Given the description of an element on the screen output the (x, y) to click on. 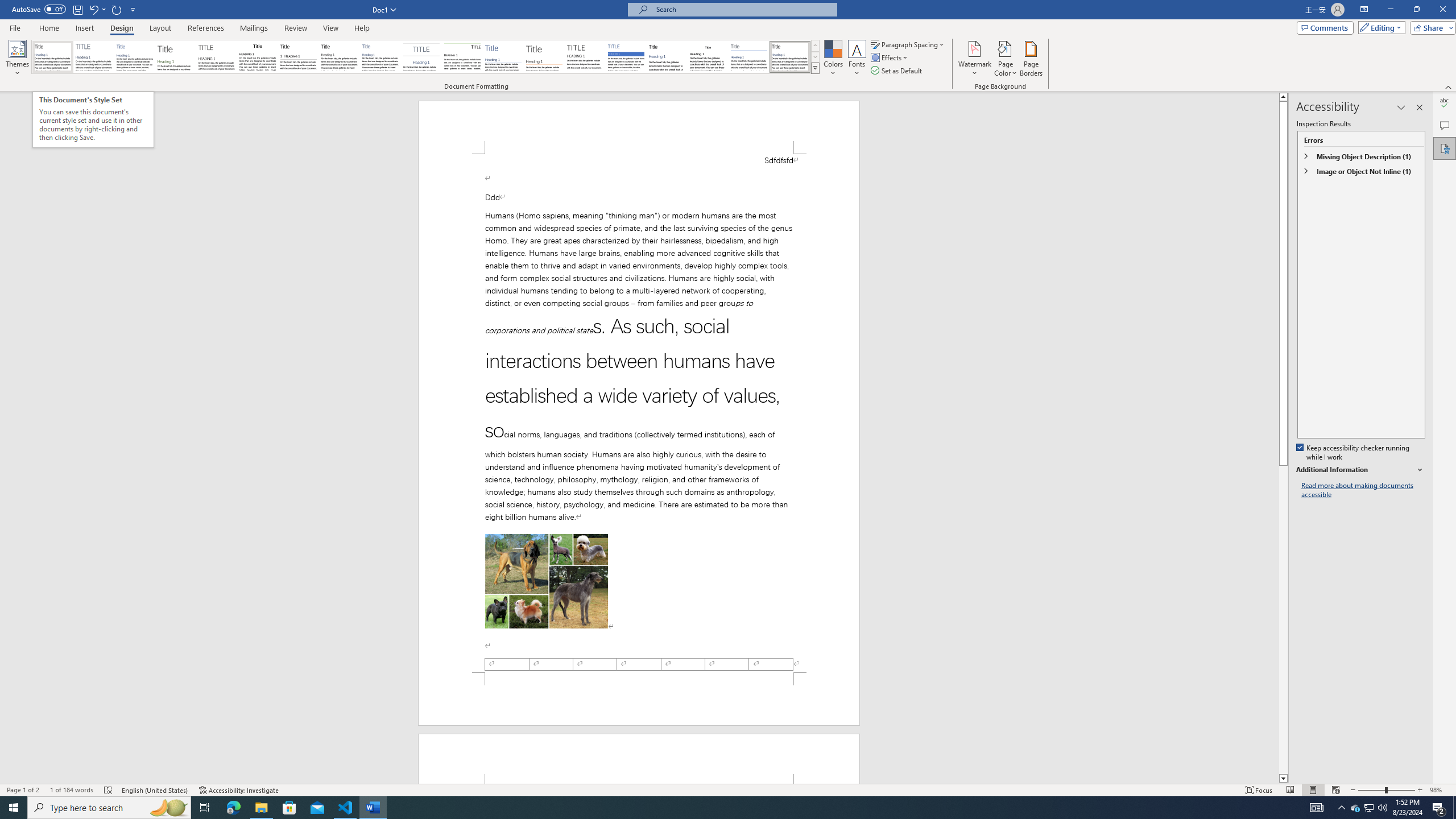
Basic (Simple) (135, 56)
